Given the description of an element on the screen output the (x, y) to click on. 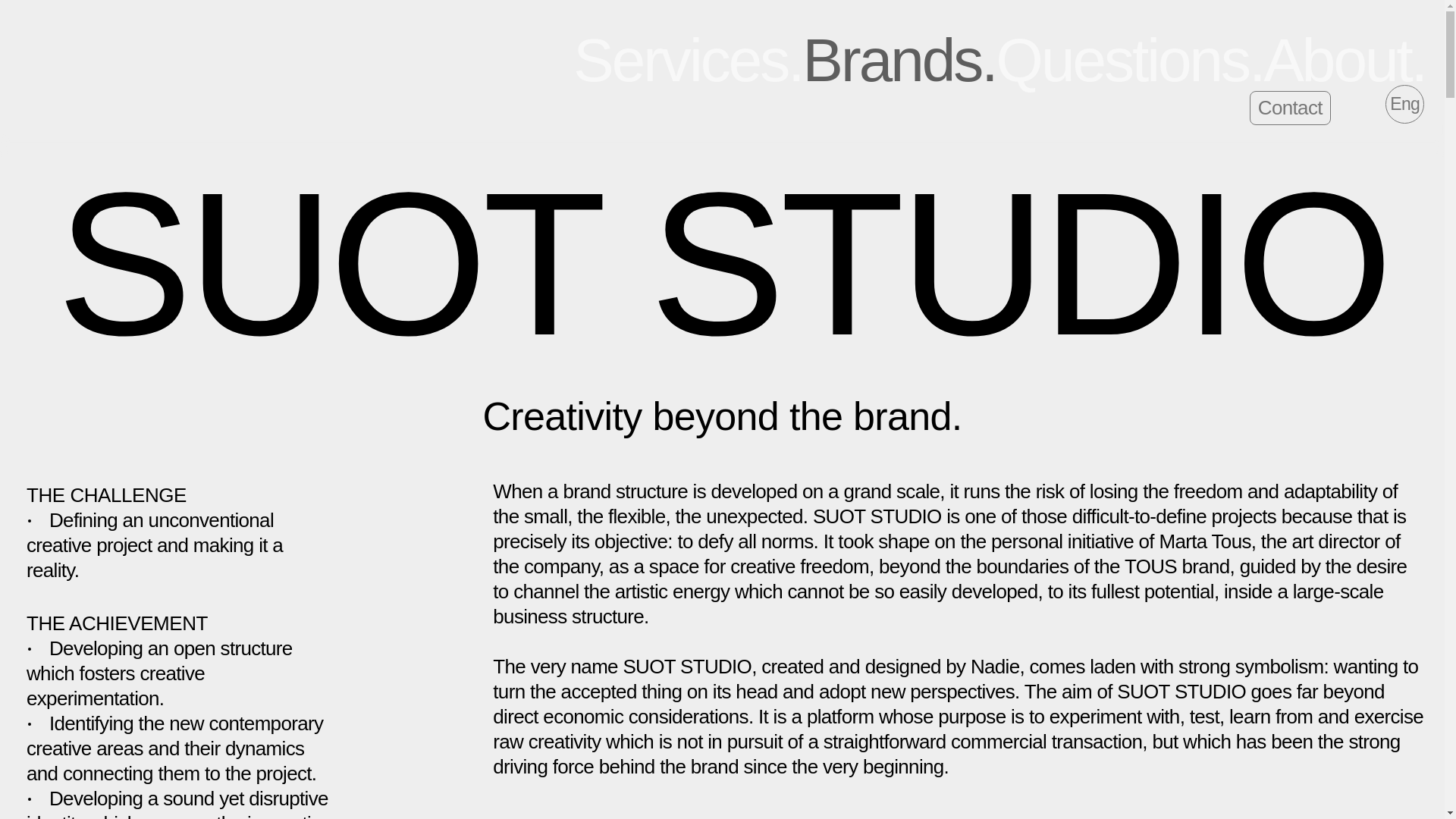
Contact (1289, 107)
Services (687, 60)
Nadie (115, 54)
Brands (899, 60)
About (1344, 60)
Questions (1129, 60)
Eng (1404, 104)
